Given the description of an element on the screen output the (x, y) to click on. 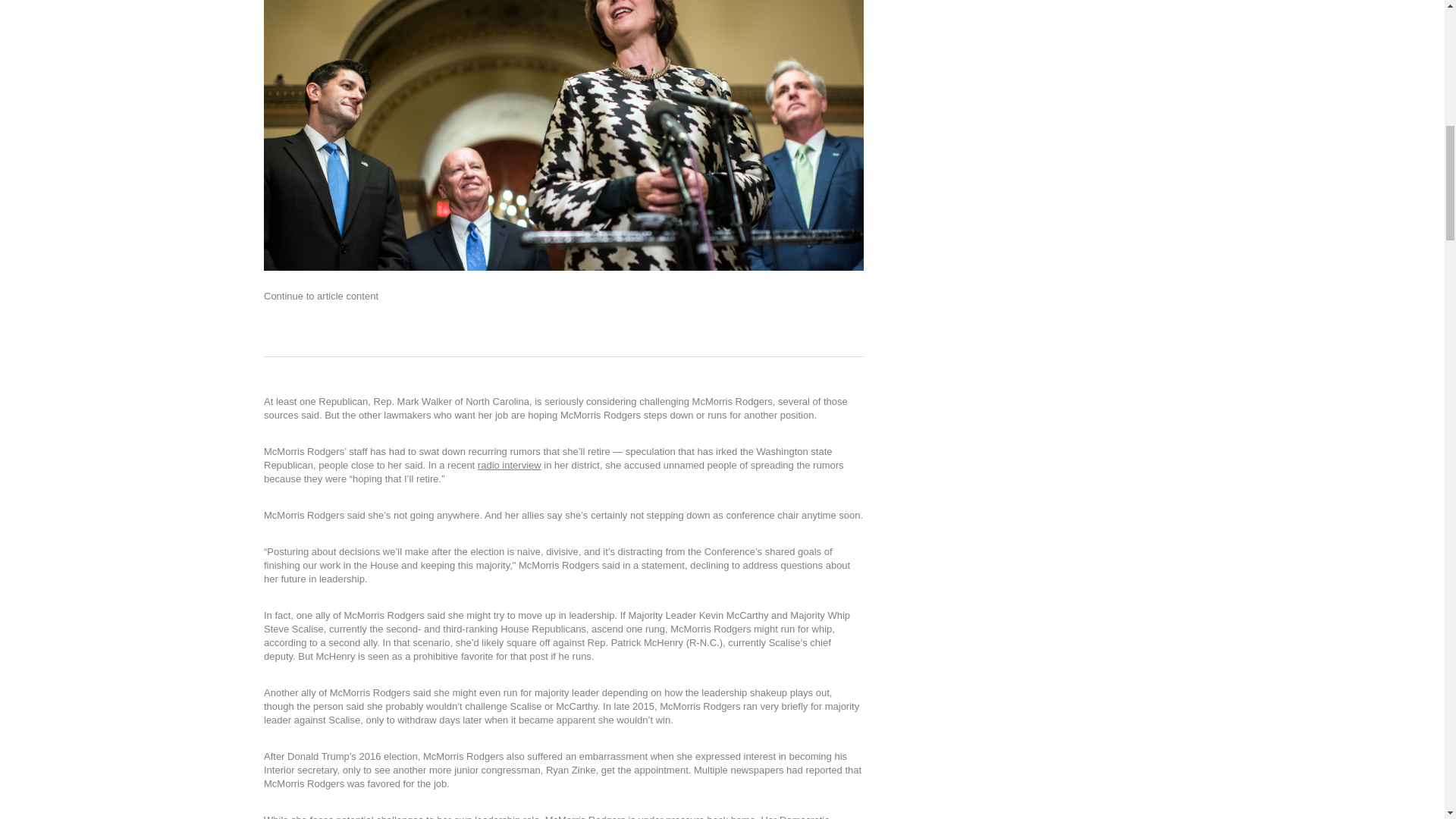
Back to top (1402, 18)
